Given the description of an element on the screen output the (x, y) to click on. 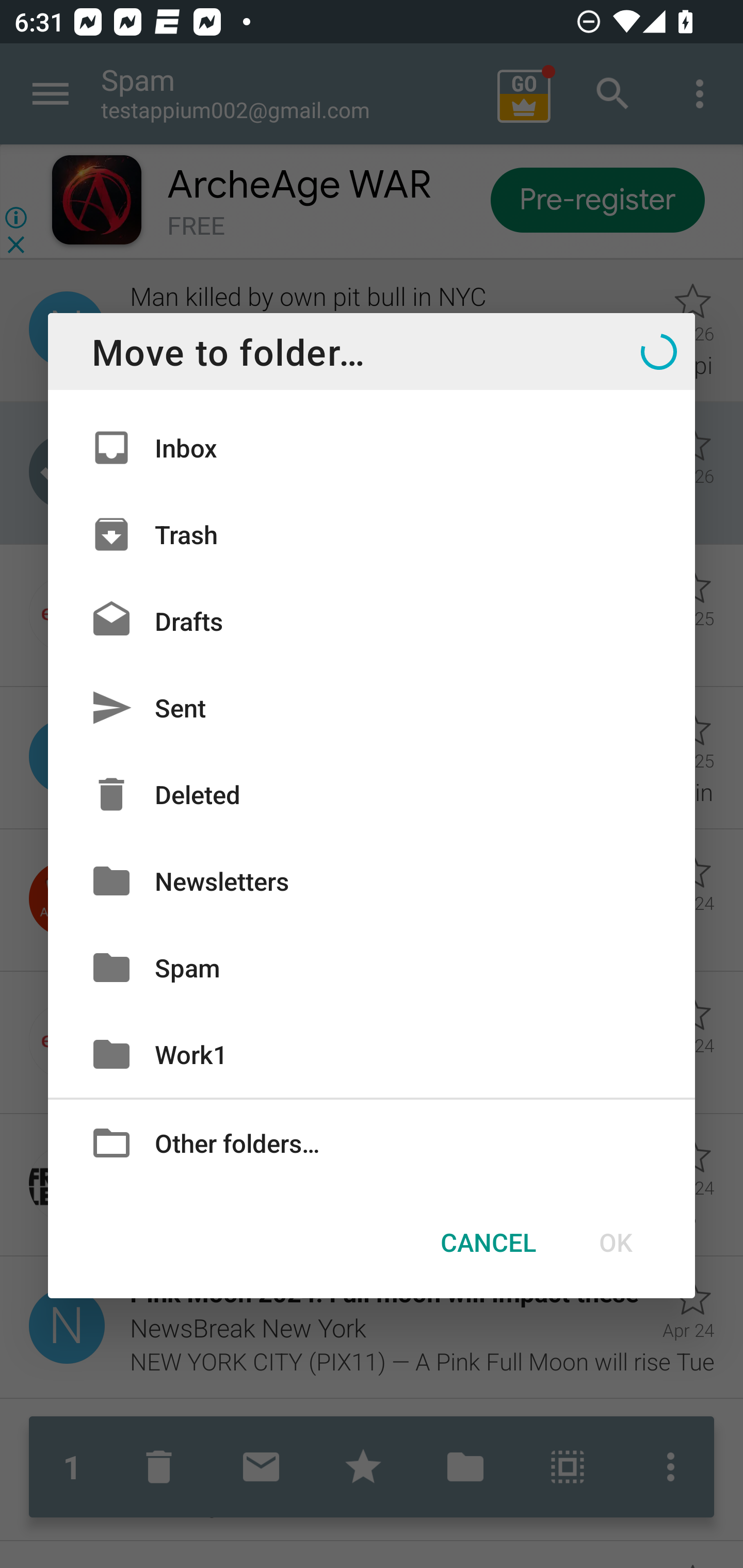
Inbox (371, 447)
Trash (371, 533)
Drafts (371, 620)
Sent (371, 707)
Deleted (371, 794)
Newsletters (371, 880)
Spam (371, 967)
Work1 (371, 1054)
Other folders… (371, 1141)
CANCEL (488, 1241)
OK (615, 1241)
